Given the description of an element on the screen output the (x, y) to click on. 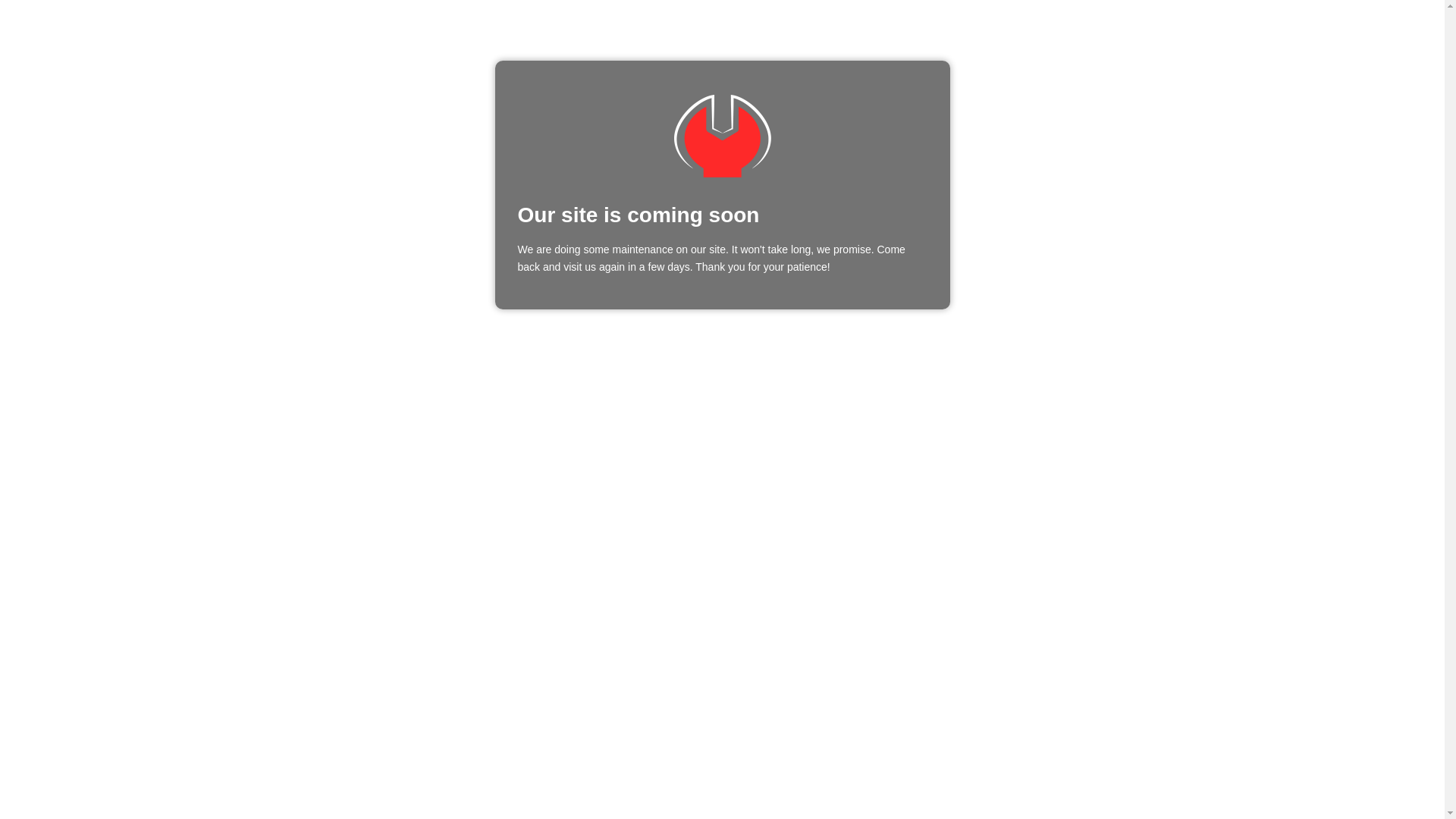
My WordPress Website Element type: hover (721, 135)
